Given the description of an element on the screen output the (x, y) to click on. 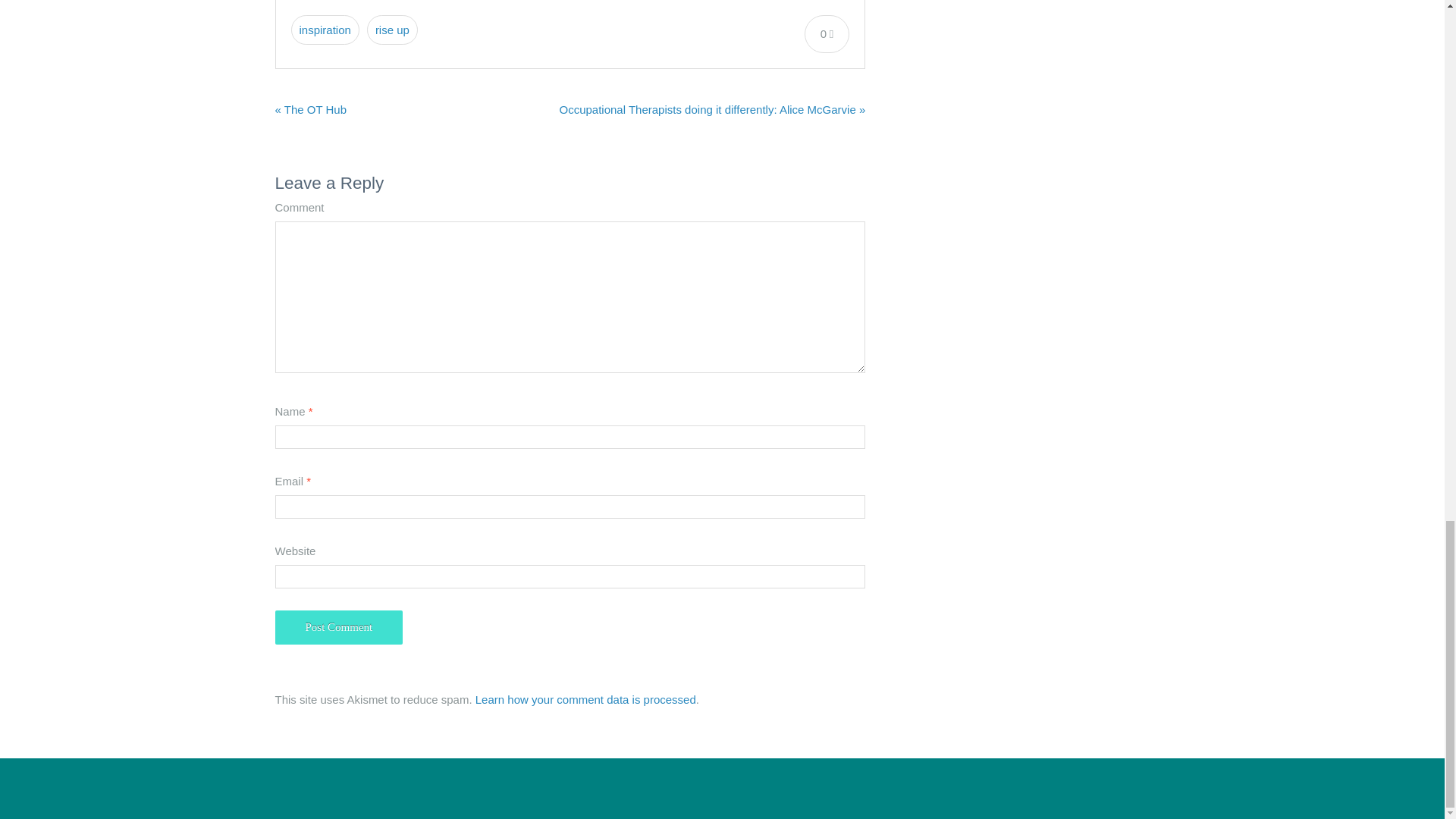
Learn how your comment data is processed (585, 698)
Post Comment (339, 627)
Post Comment (339, 627)
inspiration (325, 30)
0 (827, 33)
rise up (391, 30)
